Given the description of an element on the screen output the (x, y) to click on. 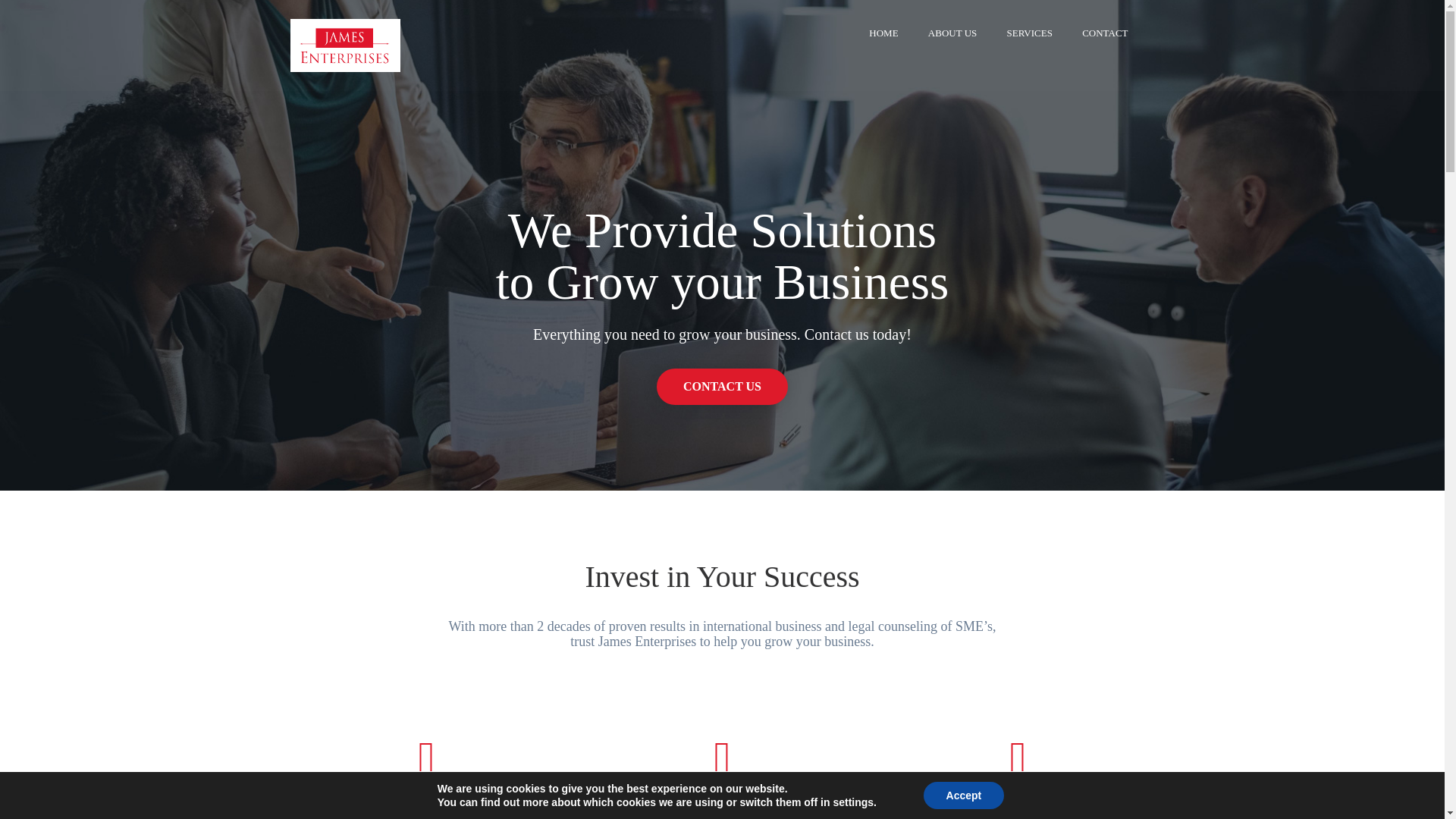
Accept (963, 795)
HOME (883, 36)
ABOUT US (952, 36)
Contact Page Three (721, 386)
CONTACT US (721, 471)
CONTACT (1103, 36)
SERVICES (1029, 36)
settings (852, 802)
